Given the description of an element on the screen output the (x, y) to click on. 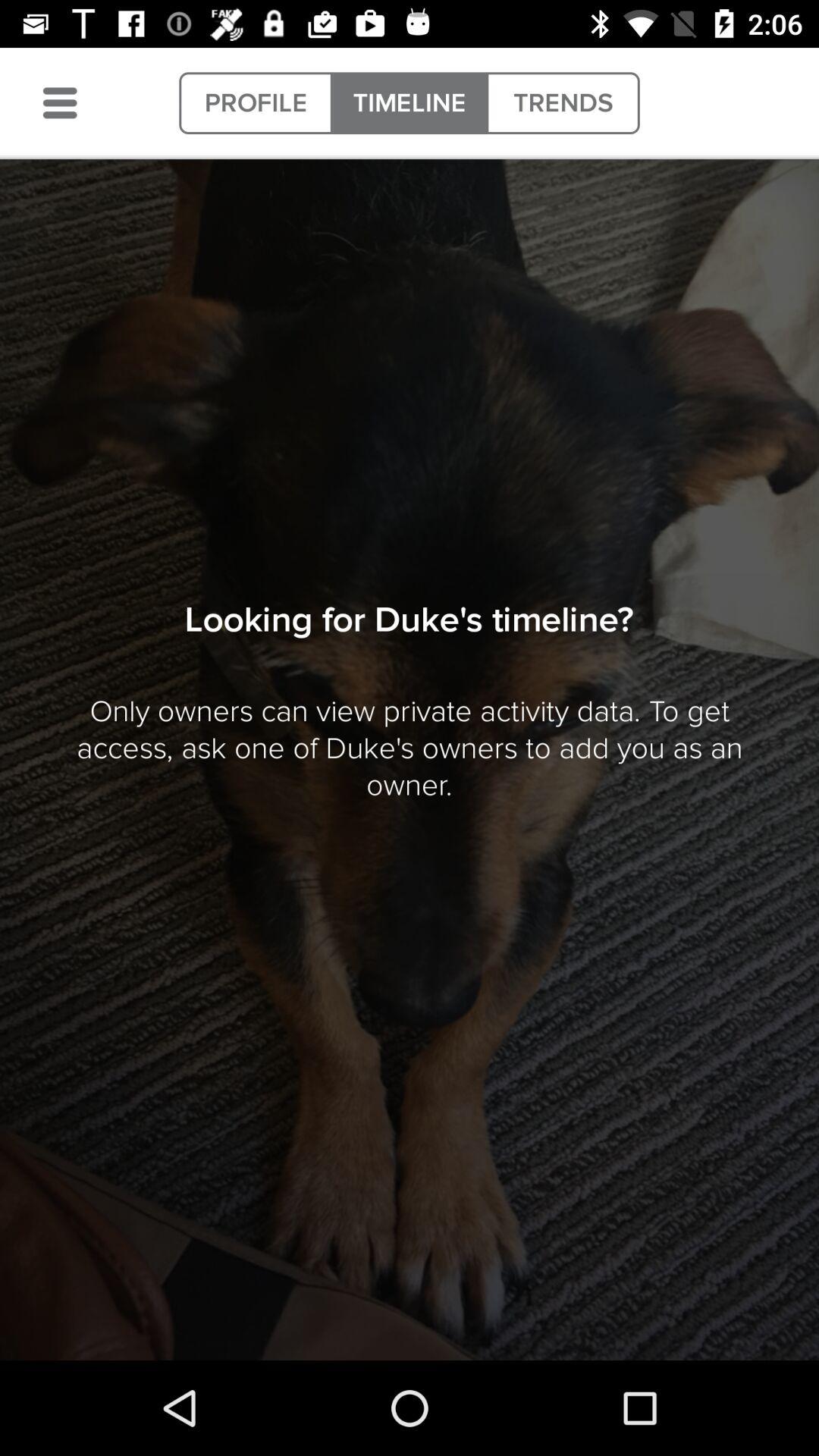
launch item next to timeline icon (255, 103)
